Given the description of an element on the screen output the (x, y) to click on. 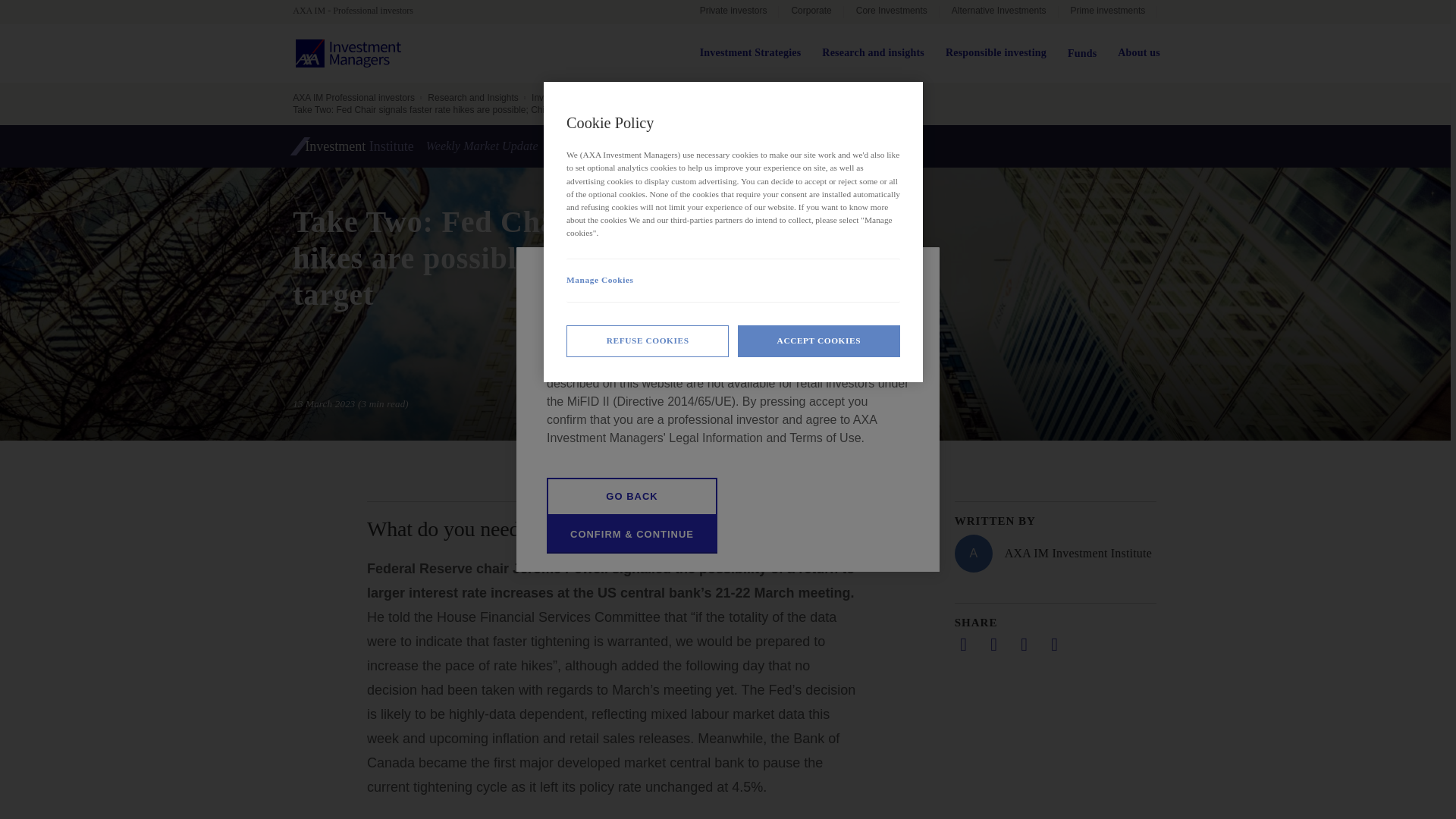
Share on LinkedIn - New window (963, 644)
AXA IM - Professional investors, Home (360, 10)
Copy URL (1054, 644)
AXA Investment Managers, Home (348, 53)
Prime investments (1107, 12)
GO BACK (632, 496)
Research and insights (873, 53)
Private investors (732, 12)
AXA IM - Professional investors (360, 10)
Core Investments (891, 12)
